Given the description of an element on the screen output the (x, y) to click on. 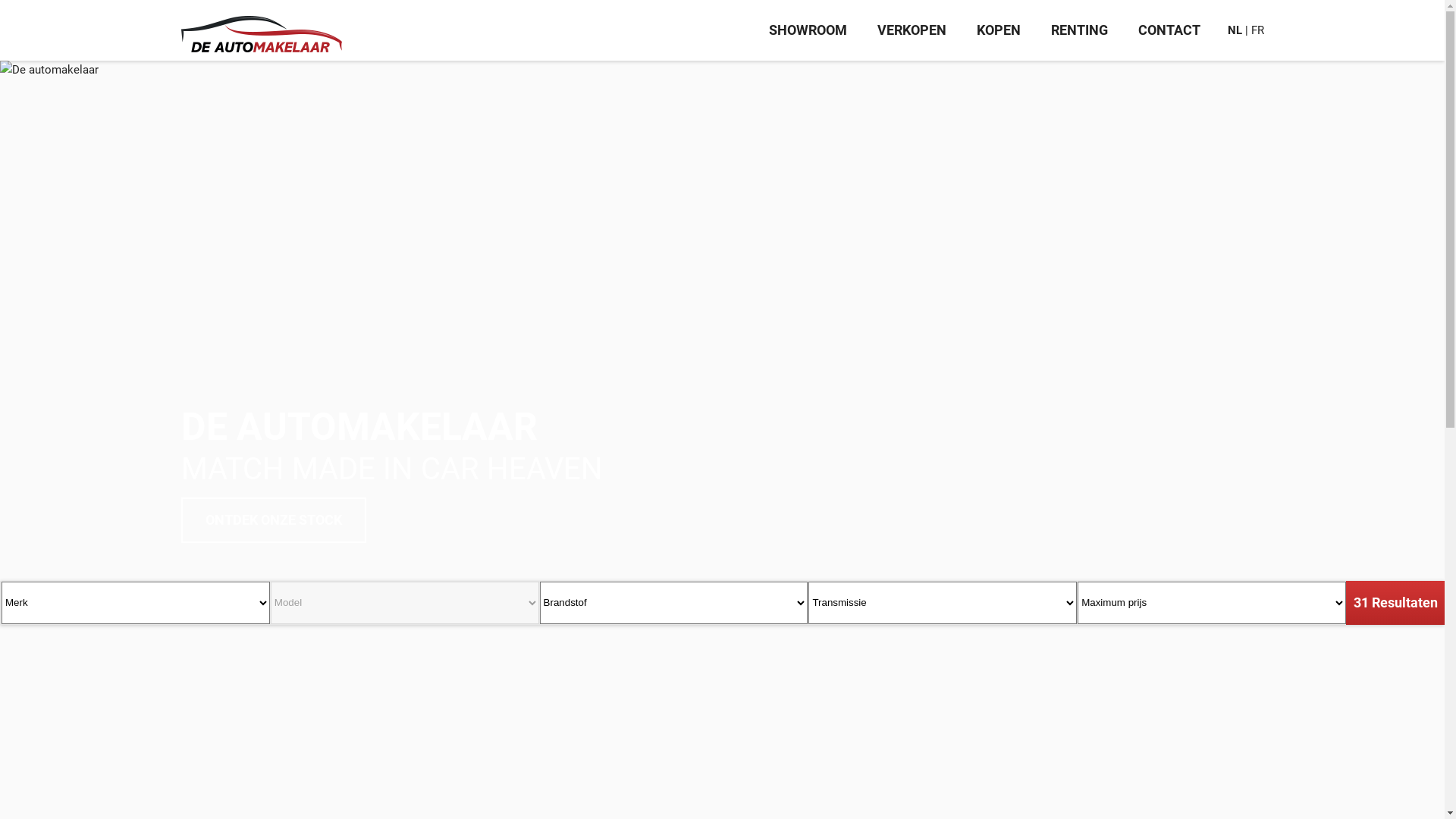
NL Element type: text (1233, 30)
SHOWROOM Element type: text (807, 30)
KOPEN Element type: text (998, 30)
ONTDEK ONZE STOCK Element type: text (272, 519)
VERKOPEN Element type: text (910, 30)
31 Resultaten Element type: text (1395, 602)
Automakelaar Element type: hover (261, 26)
FR Element type: text (1257, 30)
CONTACT Element type: text (1168, 30)
RENTING Element type: text (1079, 30)
